Given the description of an element on the screen output the (x, y) to click on. 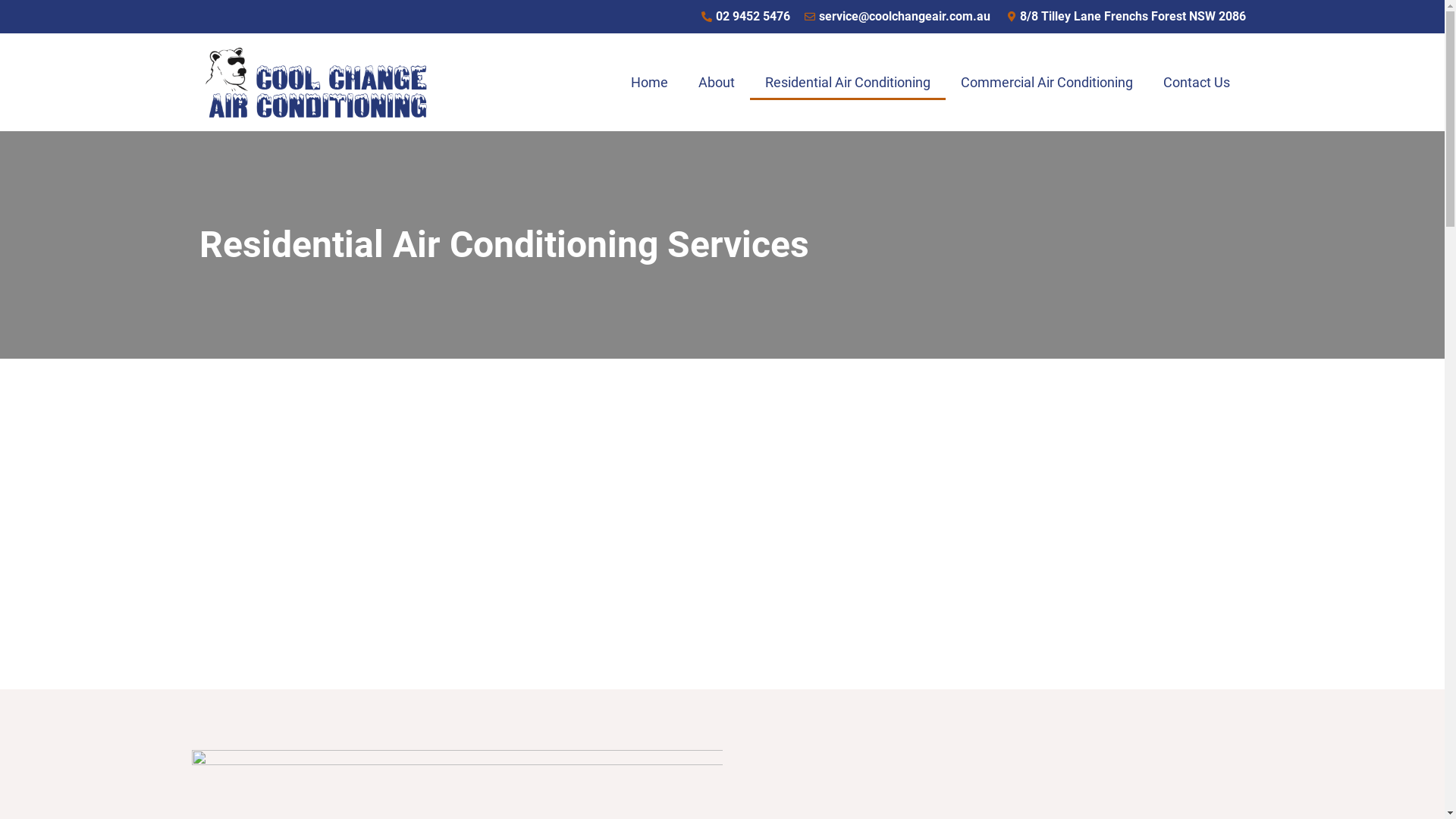
About Element type: text (716, 82)
02 9452 5476 Element type: text (744, 16)
Residential Air Conditioning Element type: text (847, 82)
service@coolchangeair.com.au Element type: text (896, 16)
Commercial Air Conditioning Element type: text (1046, 82)
Home Element type: text (649, 82)
Contact Us Element type: text (1196, 82)
